Given the description of an element on the screen output the (x, y) to click on. 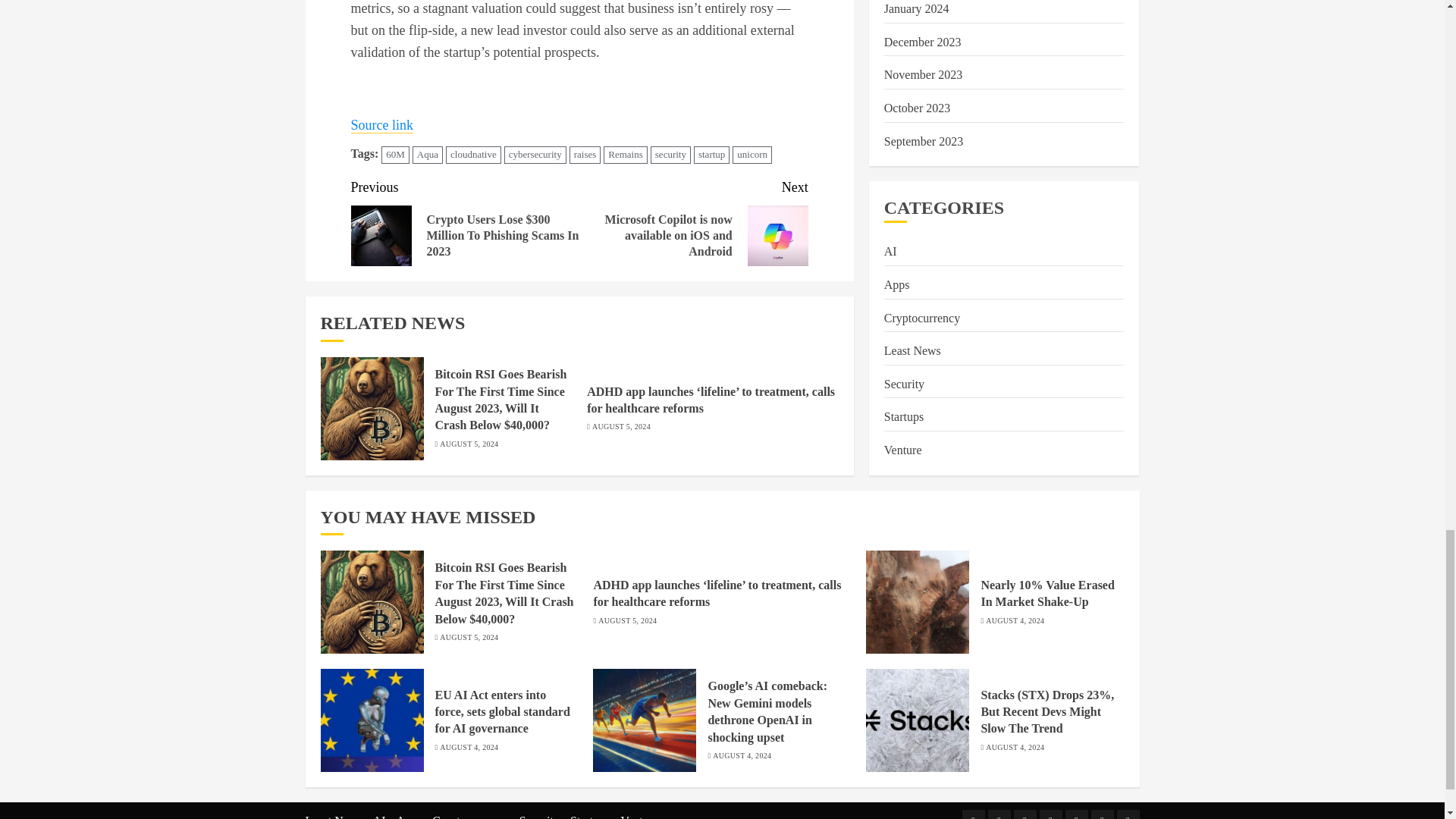
Aqua (427, 154)
cloudnative (472, 154)
Source link (381, 125)
60M (395, 154)
